Given the description of an element on the screen output the (x, y) to click on. 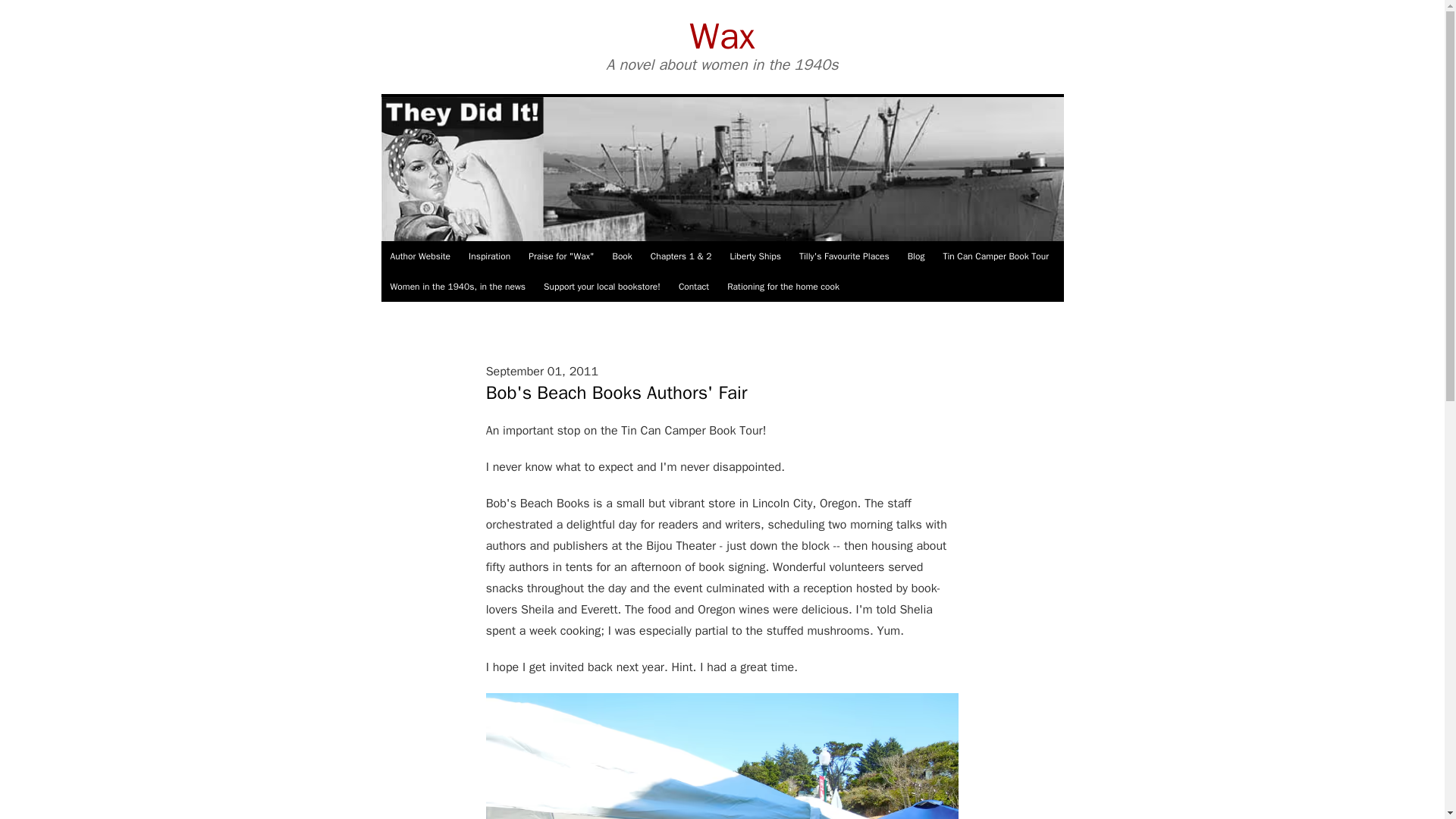
Author Website (420, 255)
Tin Can Camper Book Tour (995, 255)
Rationing for the home cook (782, 286)
Contact (693, 286)
Liberty Ships (755, 255)
Tilly's Favourite Places (844, 255)
Praise for "Wax" (560, 255)
Inspiration (489, 255)
Book (621, 255)
Women in the 1940s, in the news (457, 286)
Blog (916, 255)
Support your local bookstore! (601, 286)
Wax (721, 35)
